Given the description of an element on the screen output the (x, y) to click on. 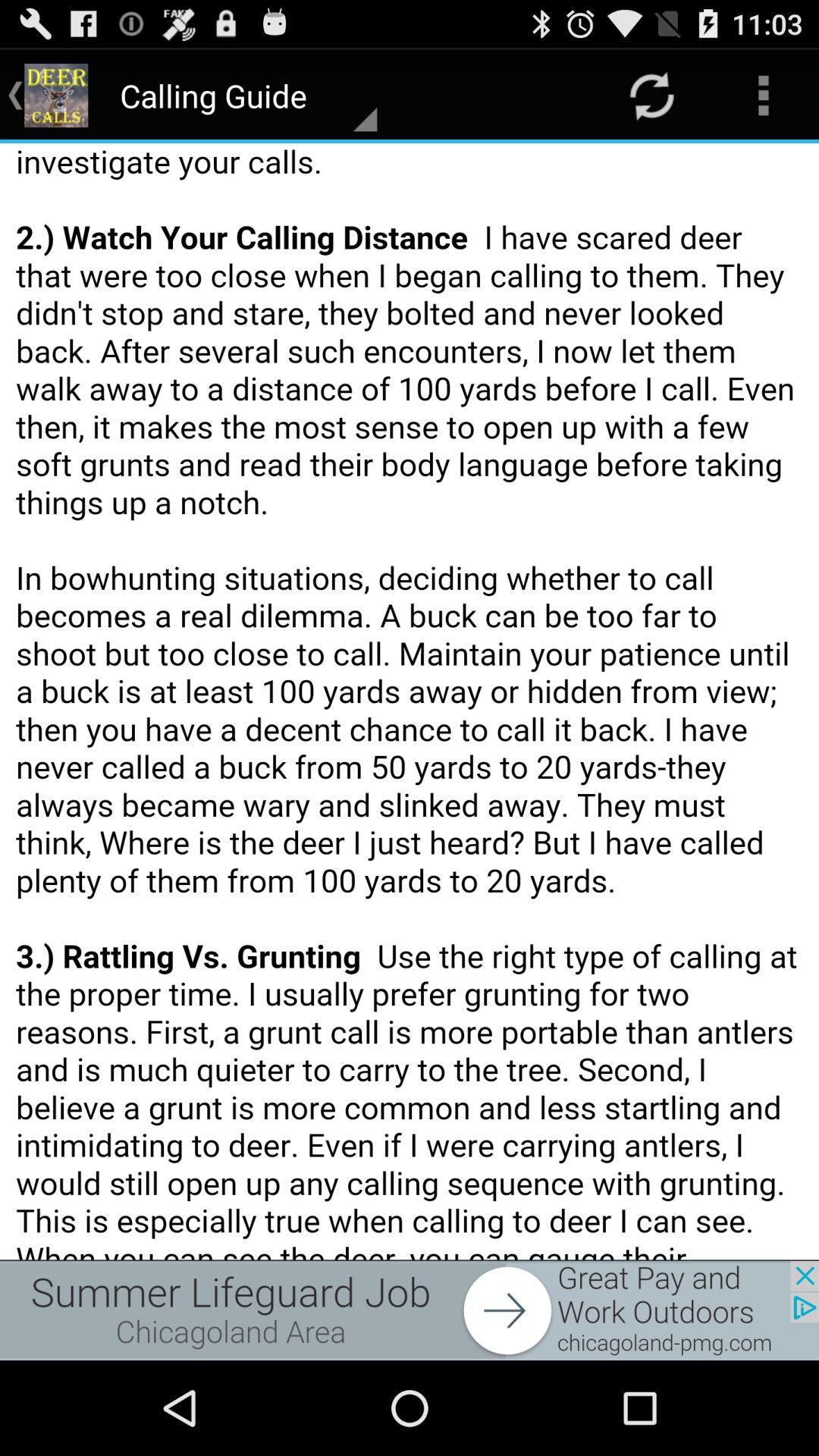
advertisement page (409, 1310)
